Given the description of an element on the screen output the (x, y) to click on. 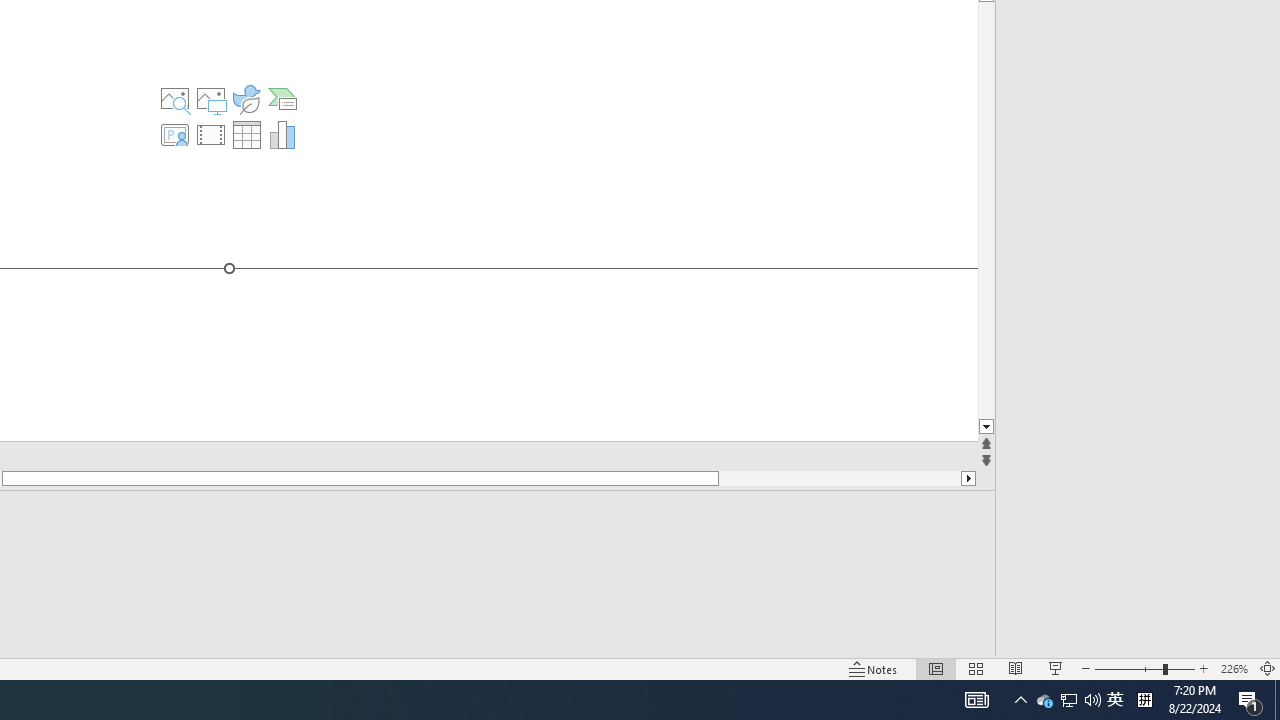
Zoom 226% (1234, 668)
Insert a SmartArt Graphic (283, 98)
